Given the description of an element on the screen output the (x, y) to click on. 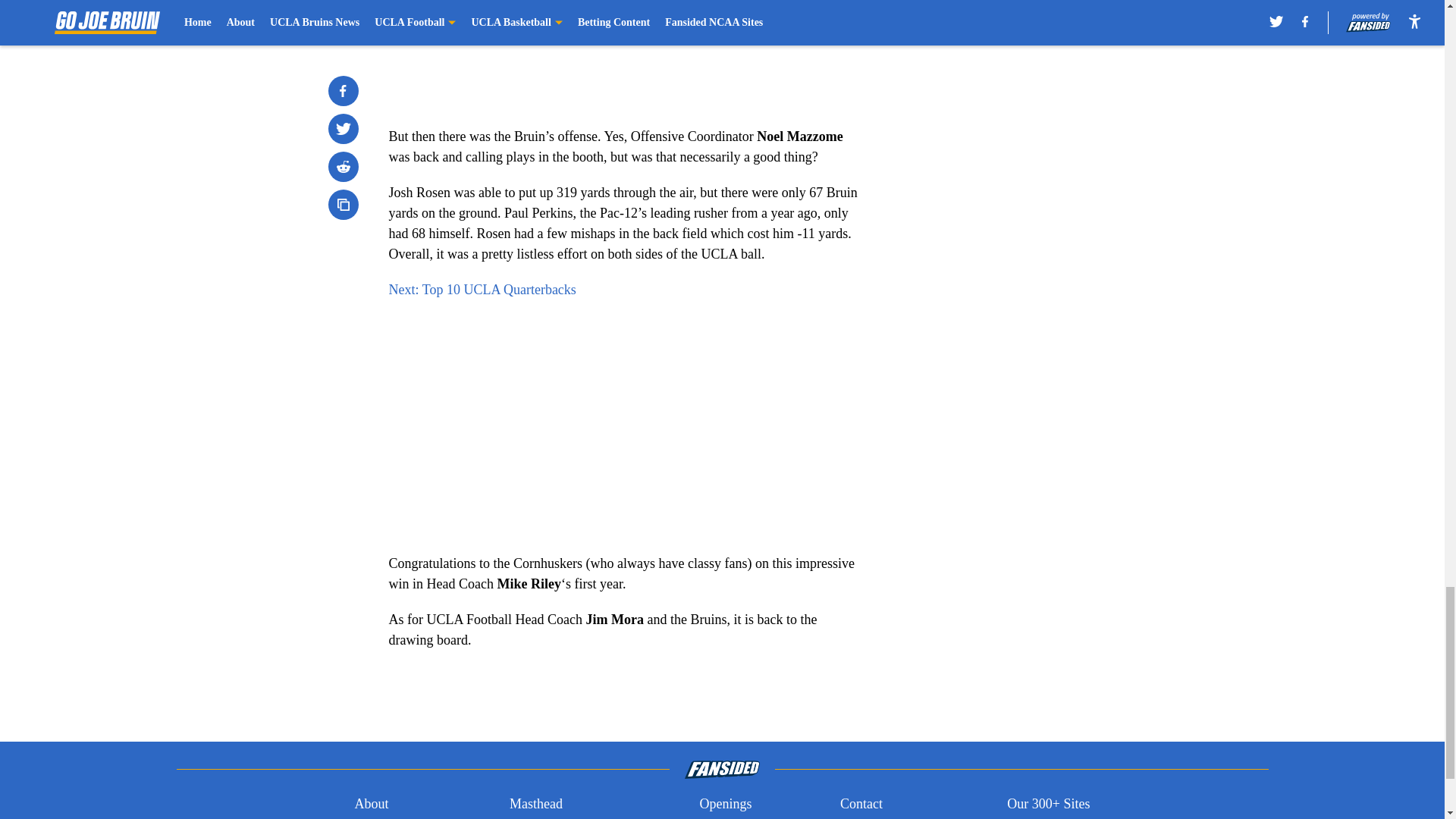
Next: Top 10 UCLA Quarterbacks (481, 289)
Contact (861, 803)
About (370, 803)
Openings (724, 803)
Masthead (535, 803)
